Given the description of an element on the screen output the (x, y) to click on. 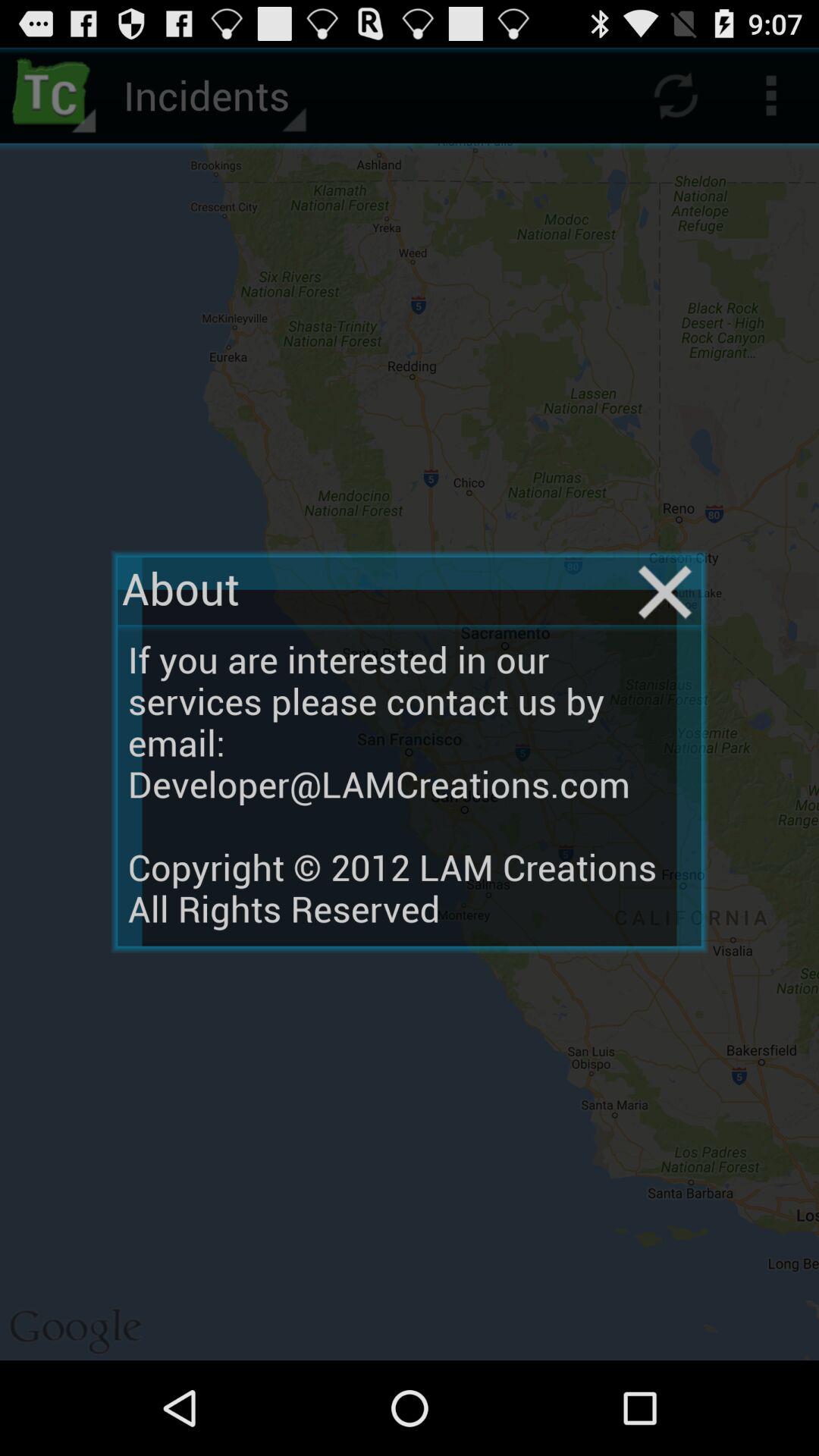
turn off the icon above the if you are icon (664, 592)
